Given the description of an element on the screen output the (x, y) to click on. 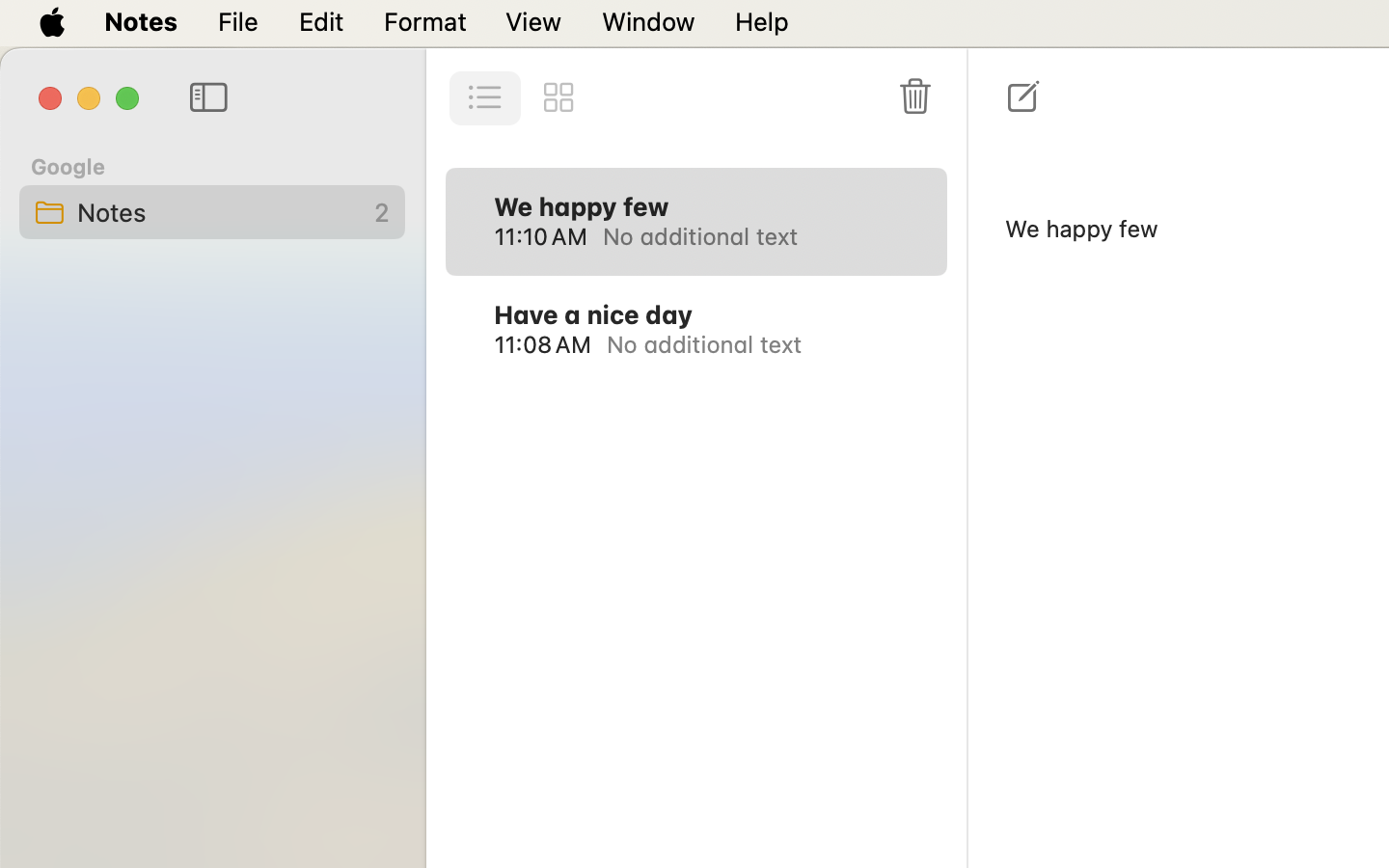
11:08 AM Element type: AXStaticText (542, 343)
No additional text Element type: AXStaticText (752, 235)
11:10 AM Element type: AXStaticText (540, 235)
Have a nice day Element type: AXStaticText (593, 313)
<AXUIElement 0x10fdc7460> {pid=1298} Element type: AXRadioGroup (521, 97)
